Given the description of an element on the screen output the (x, y) to click on. 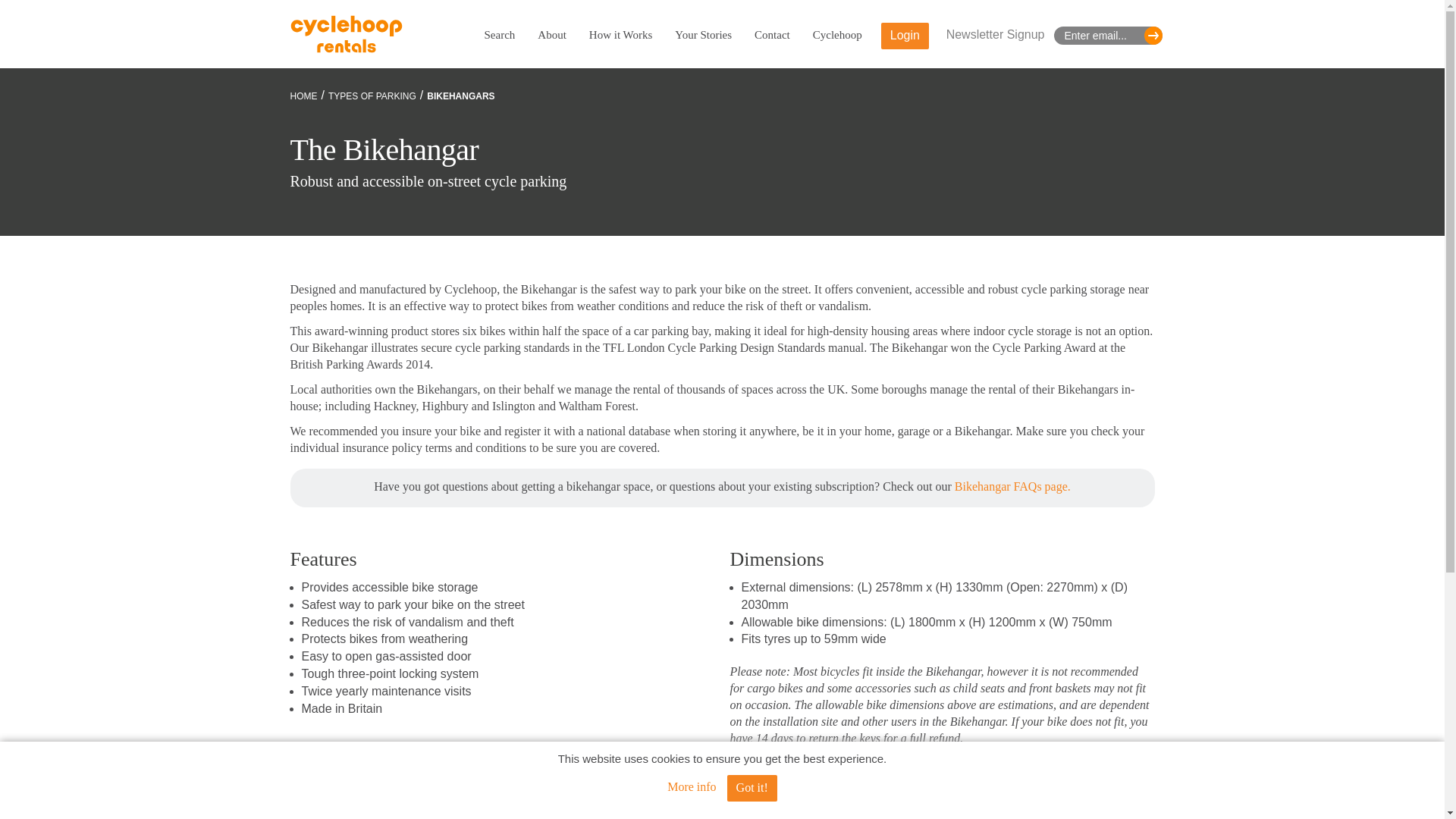
Search (499, 34)
More info (691, 786)
Cyclehoop (836, 34)
TYPES OF PARKING (372, 95)
About (551, 34)
How it Works (620, 34)
Your Stories (703, 34)
HOME (303, 95)
Login (904, 35)
Got it! (751, 787)
